Given the description of an element on the screen output the (x, y) to click on. 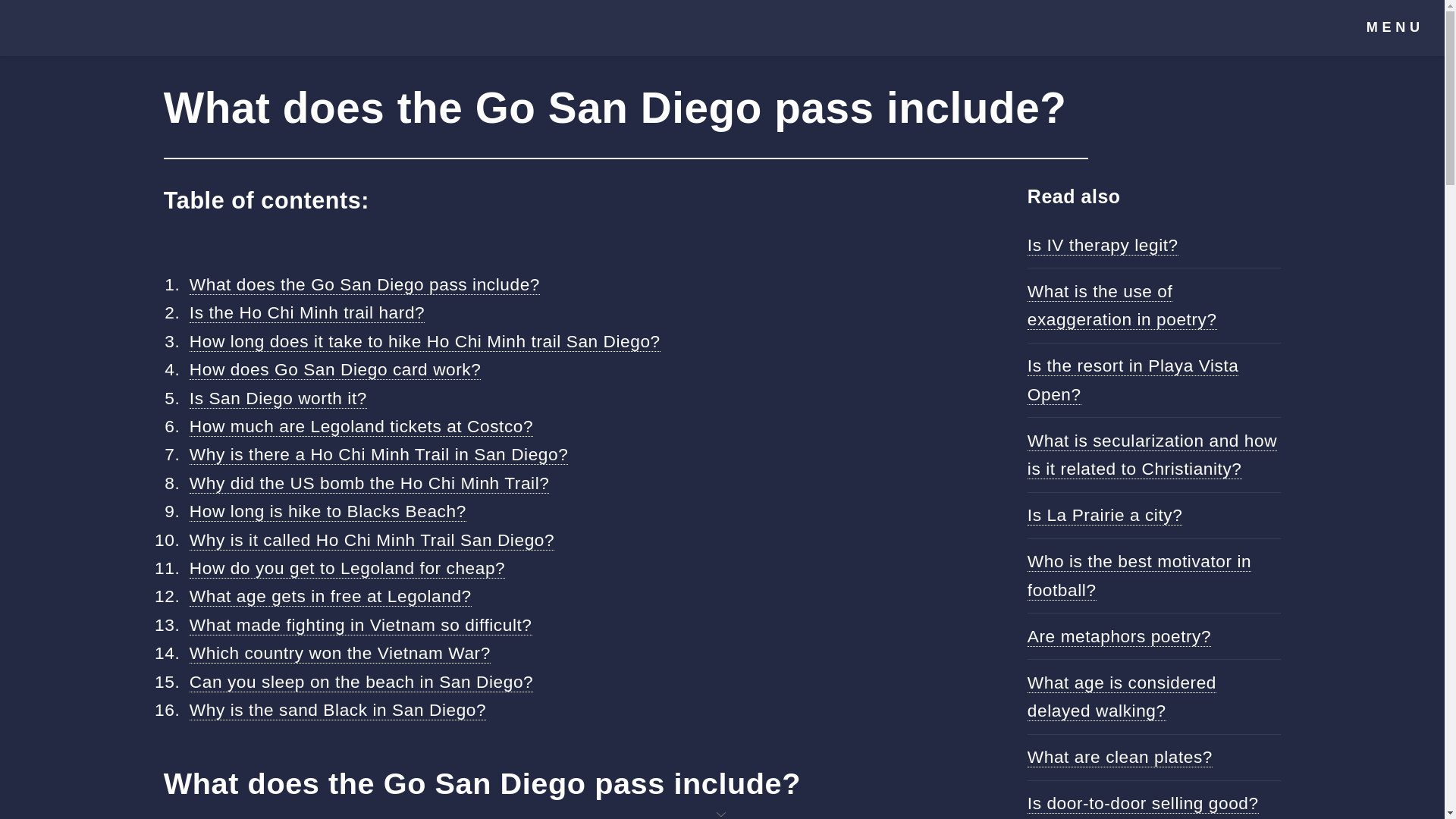
Is the resort in Playa Vista Open? (1133, 379)
Are metaphors poetry? (1119, 636)
Is door-to-door selling good? (1143, 803)
What age gets in free at Legoland? (330, 596)
Is La Prairie a city? (1104, 515)
Why did the US bomb the Ho Chi Minh Trail? (369, 483)
Can you sleep on the beach in San Diego? (360, 681)
Why is the sand Black in San Diego? (337, 710)
Why is it called Ho Chi Minh Trail San Diego? (371, 539)
What is the use of exaggeration in poetry? (1122, 305)
Is San Diego worth it? (277, 398)
Is the Ho Chi Minh trail hard? (307, 312)
Ad.Plus Advertising (722, 813)
Who is the best motivator in football? (1138, 575)
